Given the description of an element on the screen output the (x, y) to click on. 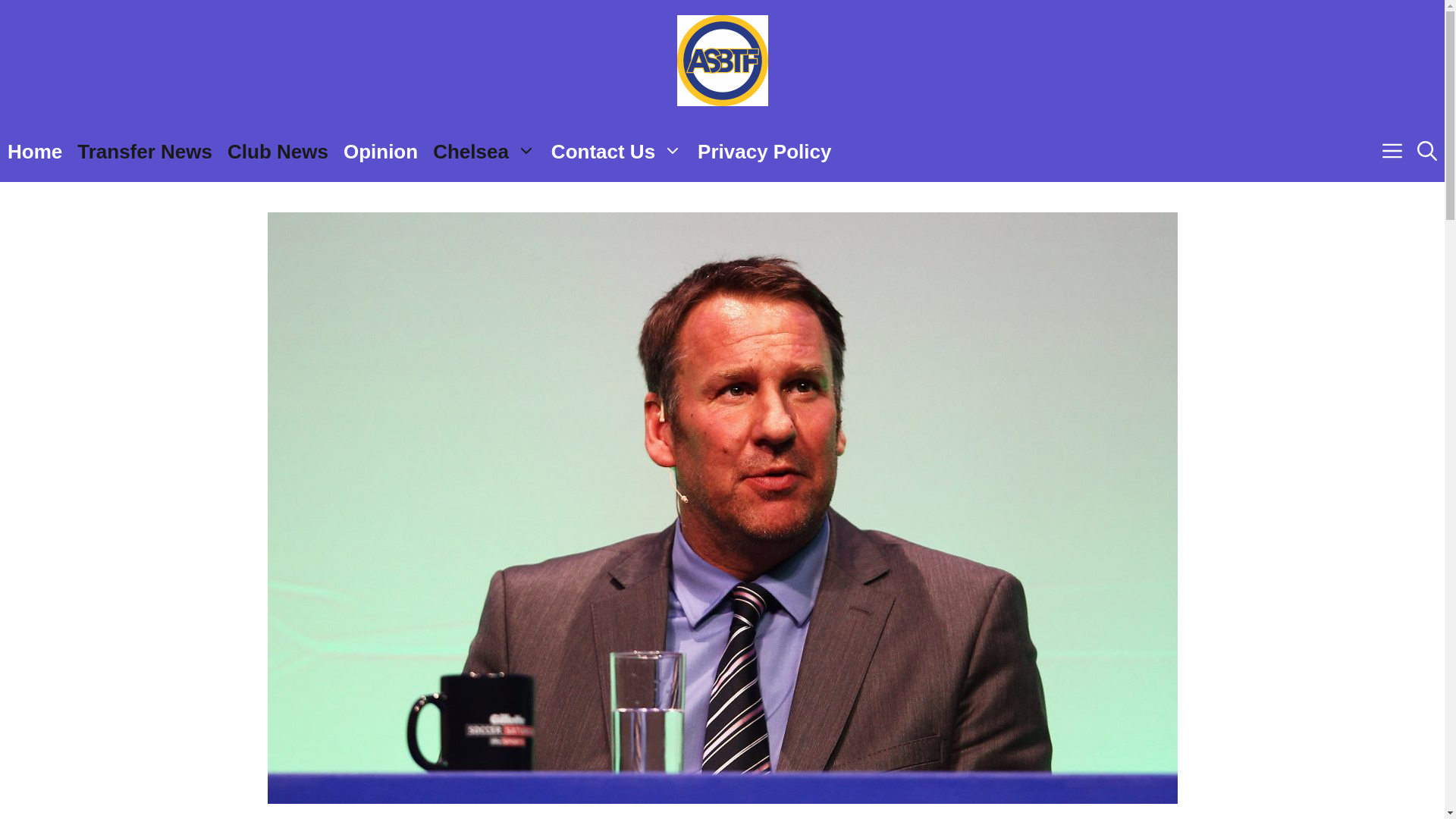
Transfer News (144, 151)
Contact Us (616, 151)
Club News (277, 151)
Chelsea (484, 151)
Opinion (380, 151)
Home (34, 151)
Privacy Policy (764, 151)
